Given the description of an element on the screen output the (x, y) to click on. 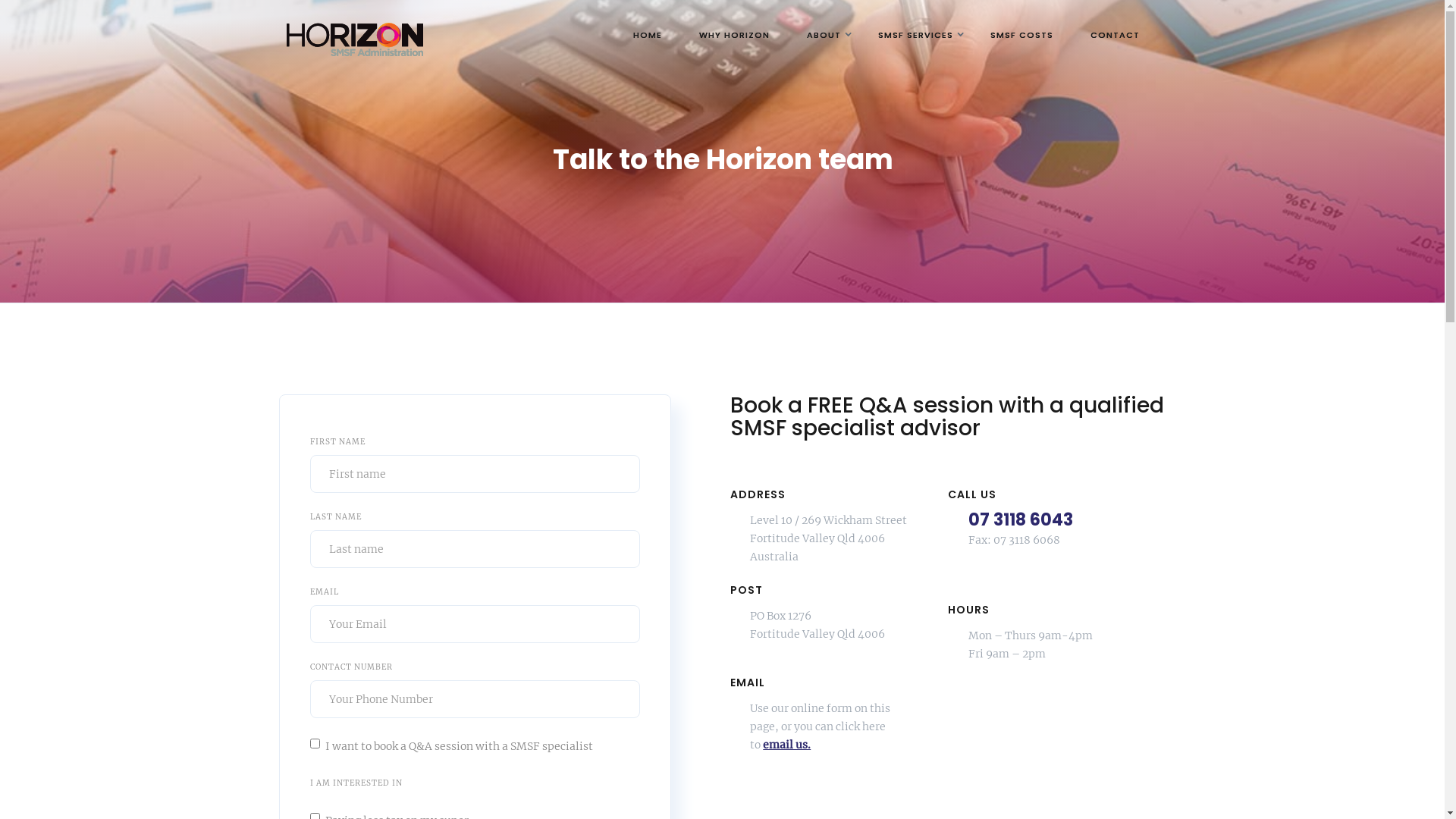
HOME Element type: text (646, 34)
Horizon SMSF Administration Element type: hover (356, 35)
Horizon Superannuation SMSF Set up and Administration Element type: hover (354, 39)
email us. Element type: text (786, 744)
SMSF COSTS Element type: text (1021, 34)
07 3118 6043 Element type: text (1020, 519)
WHY HORIZON Element type: text (734, 34)
CONTACT Element type: text (1114, 34)
